Given the description of an element on the screen output the (x, y) to click on. 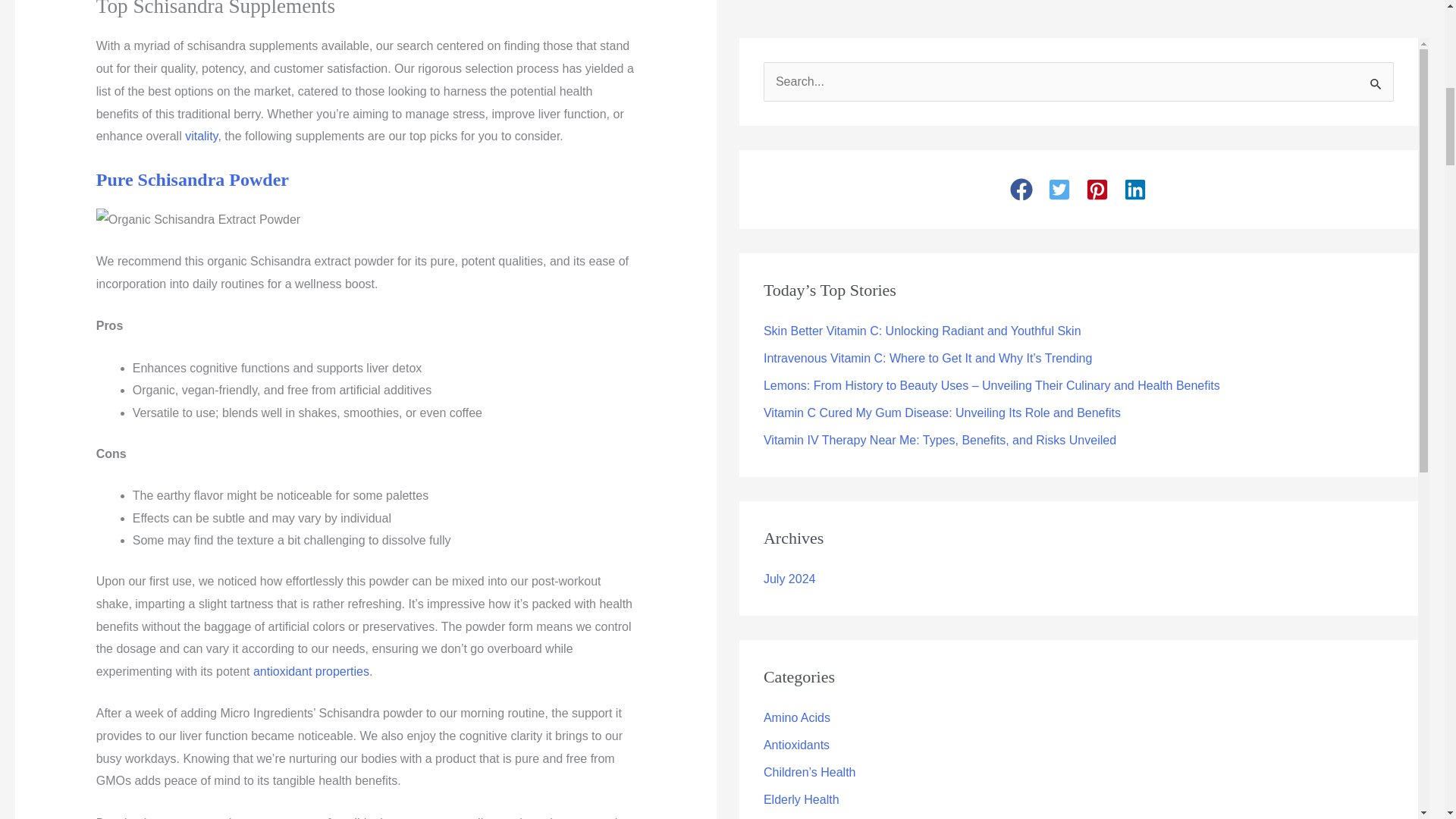
vitality (200, 135)
Pure Schisandra Powder (192, 179)
antioxidant properties (311, 671)
